Given the description of an element on the screen output the (x, y) to click on. 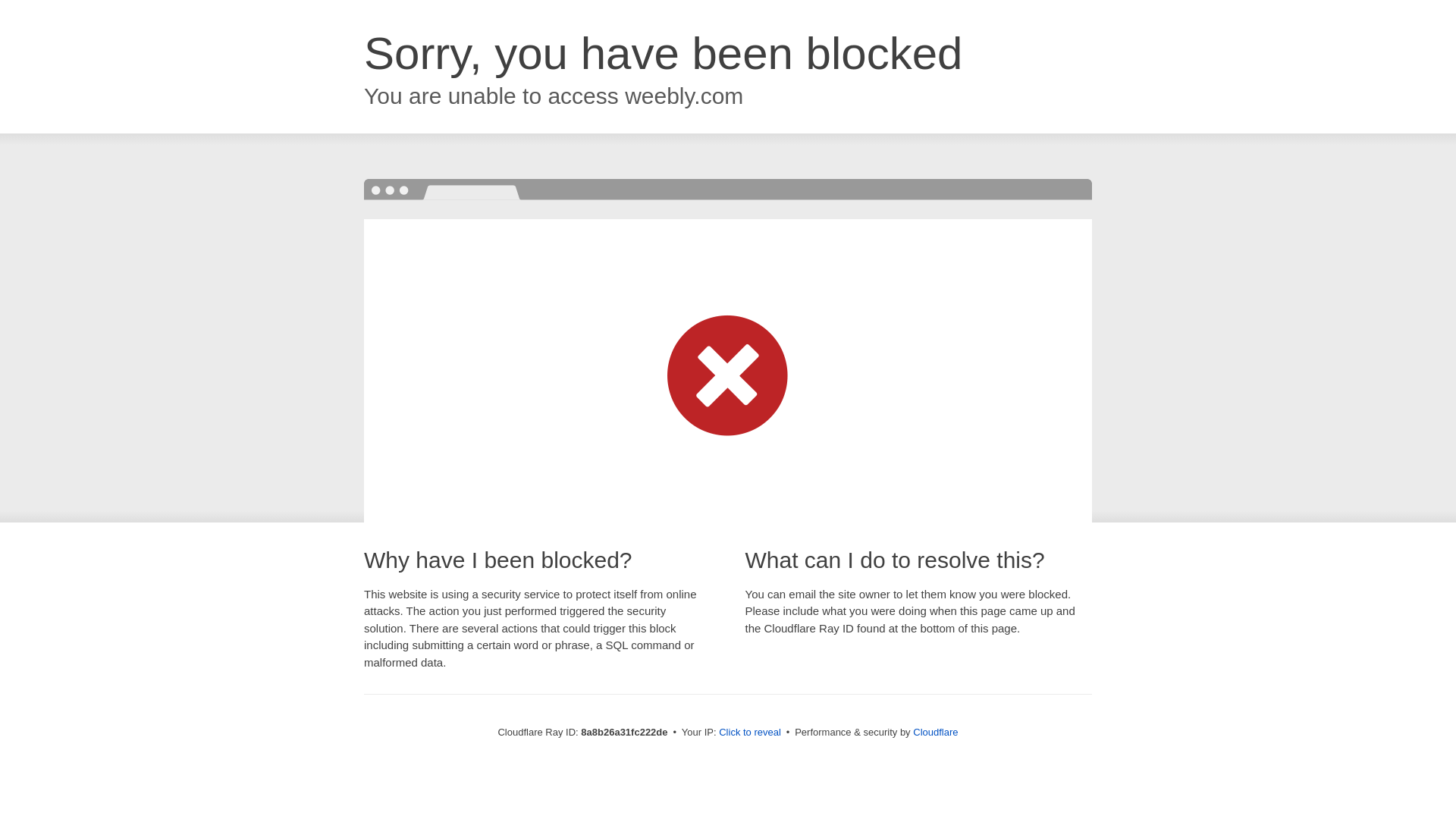
Cloudflare (935, 731)
Click to reveal (749, 732)
